Given the description of an element on the screen output the (x, y) to click on. 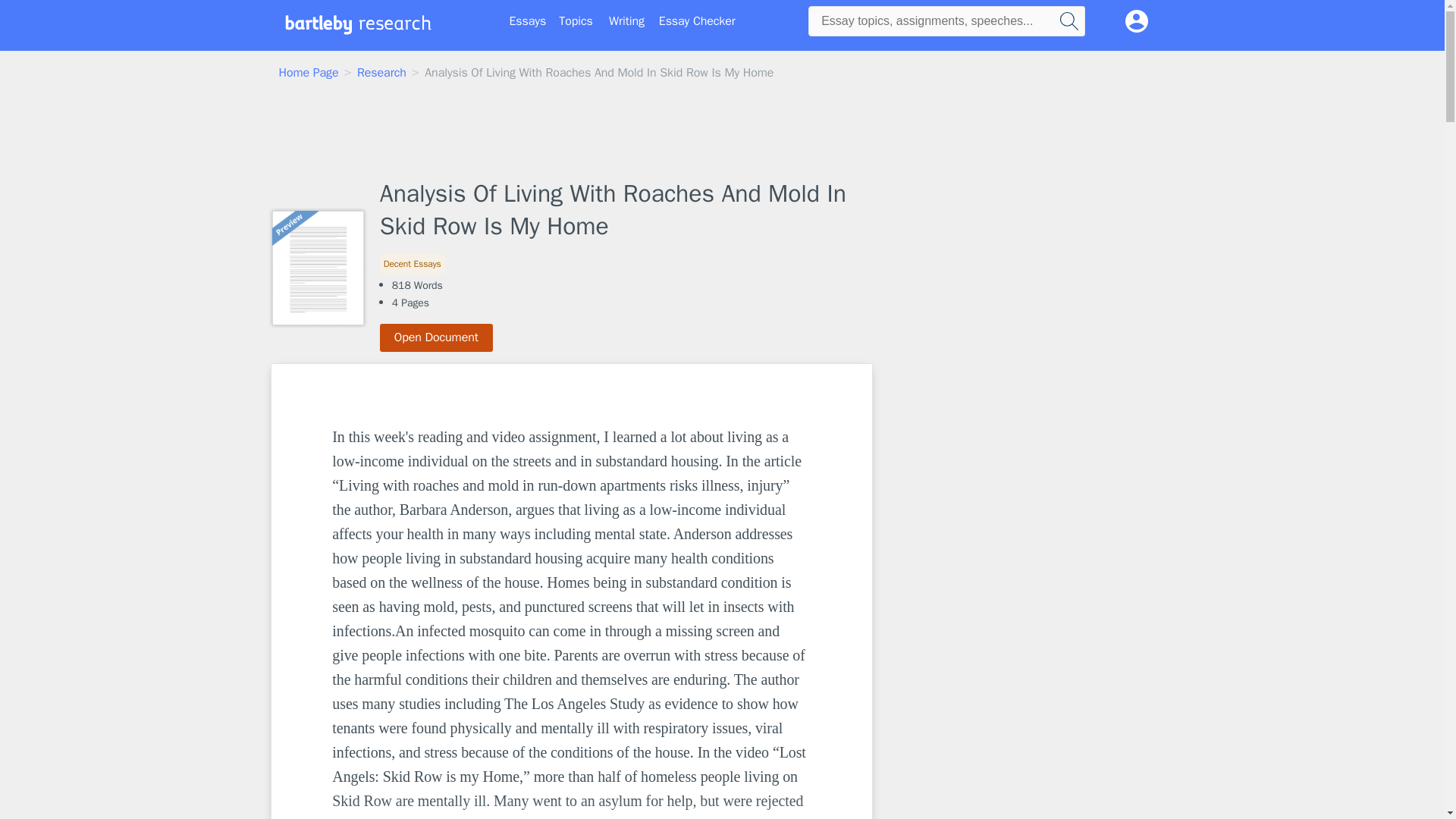
Research (381, 72)
Writing (626, 20)
Home Page (309, 72)
Topics (575, 20)
Open Document (436, 337)
Essay Checker (697, 20)
Essays (528, 20)
